Given the description of an element on the screen output the (x, y) to click on. 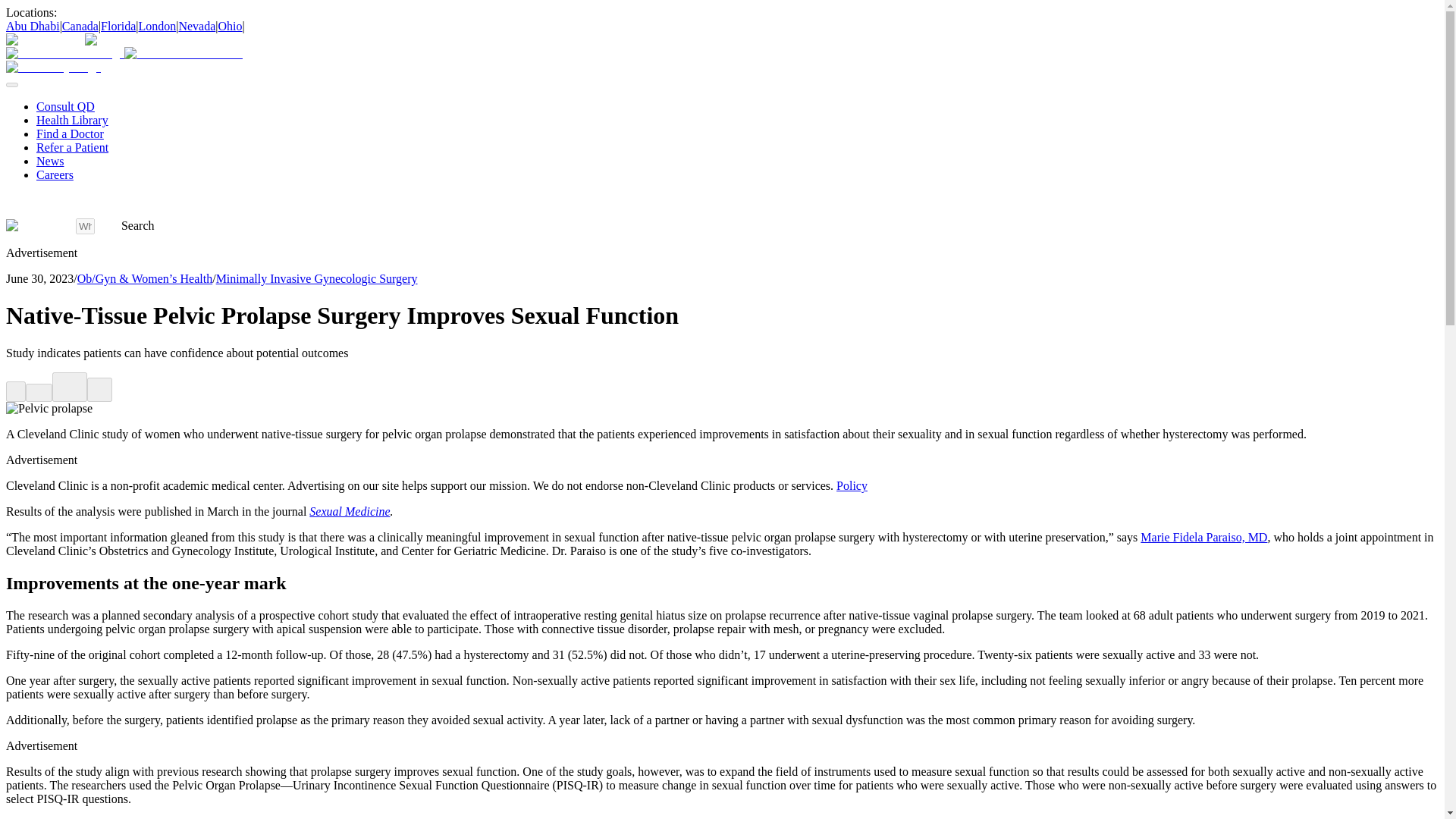
Ohio (230, 25)
London (157, 25)
Minimally Invasive Gynecologic Surgery (316, 278)
Abu Dhabi (32, 25)
Careers (55, 174)
Consult QD (65, 106)
Sexual Medicine (349, 511)
Policy (851, 485)
Find a Doctor (69, 133)
News (50, 160)
Florida (117, 25)
Canada (80, 25)
Refer a Patient (71, 146)
Marie Fidela Paraiso, MD (1203, 536)
Nevada (196, 25)
